Given the description of an element on the screen output the (x, y) to click on. 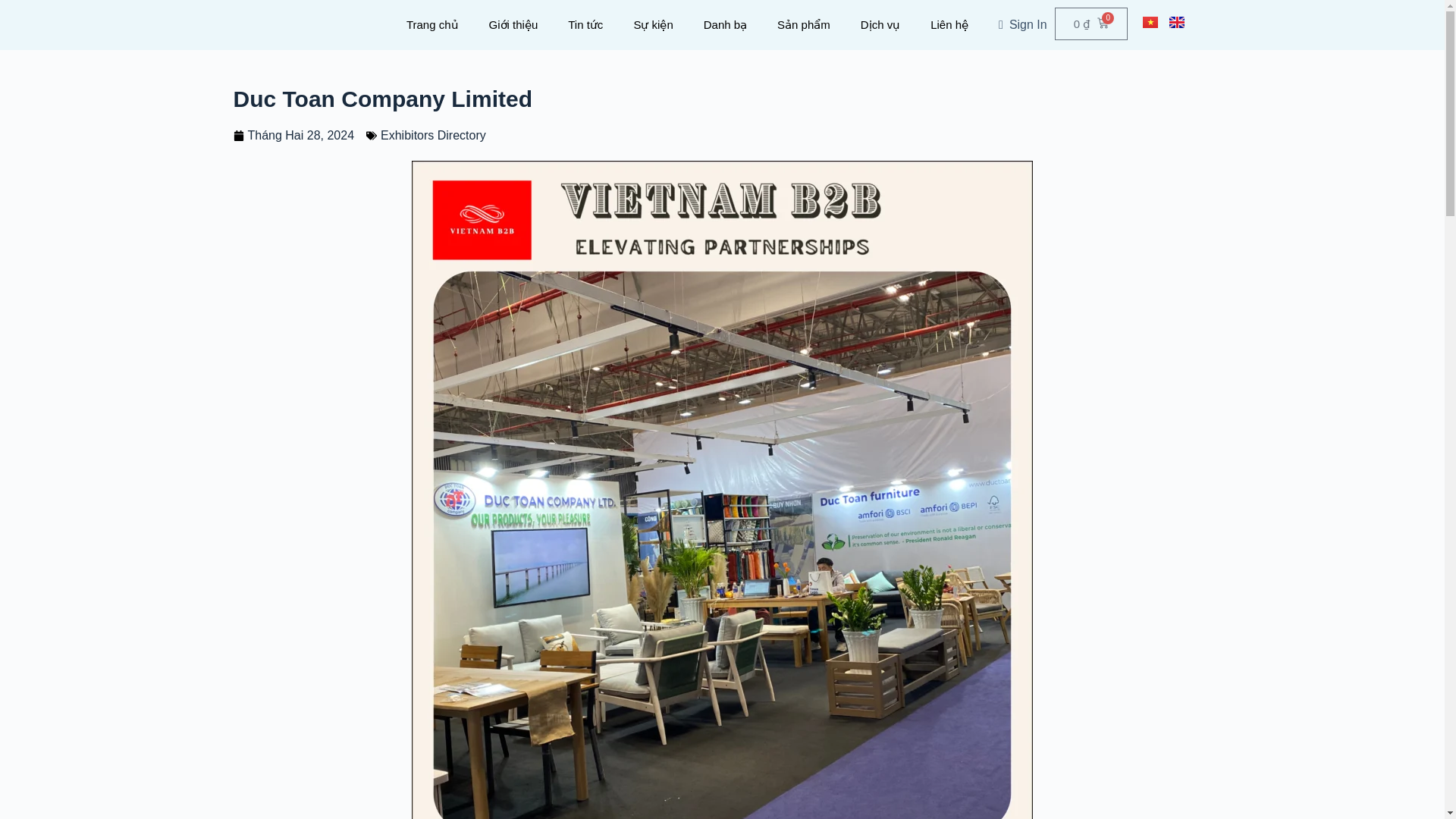
Sign In (1023, 24)
Exhibitors Directory (433, 134)
